Given the description of an element on the screen output the (x, y) to click on. 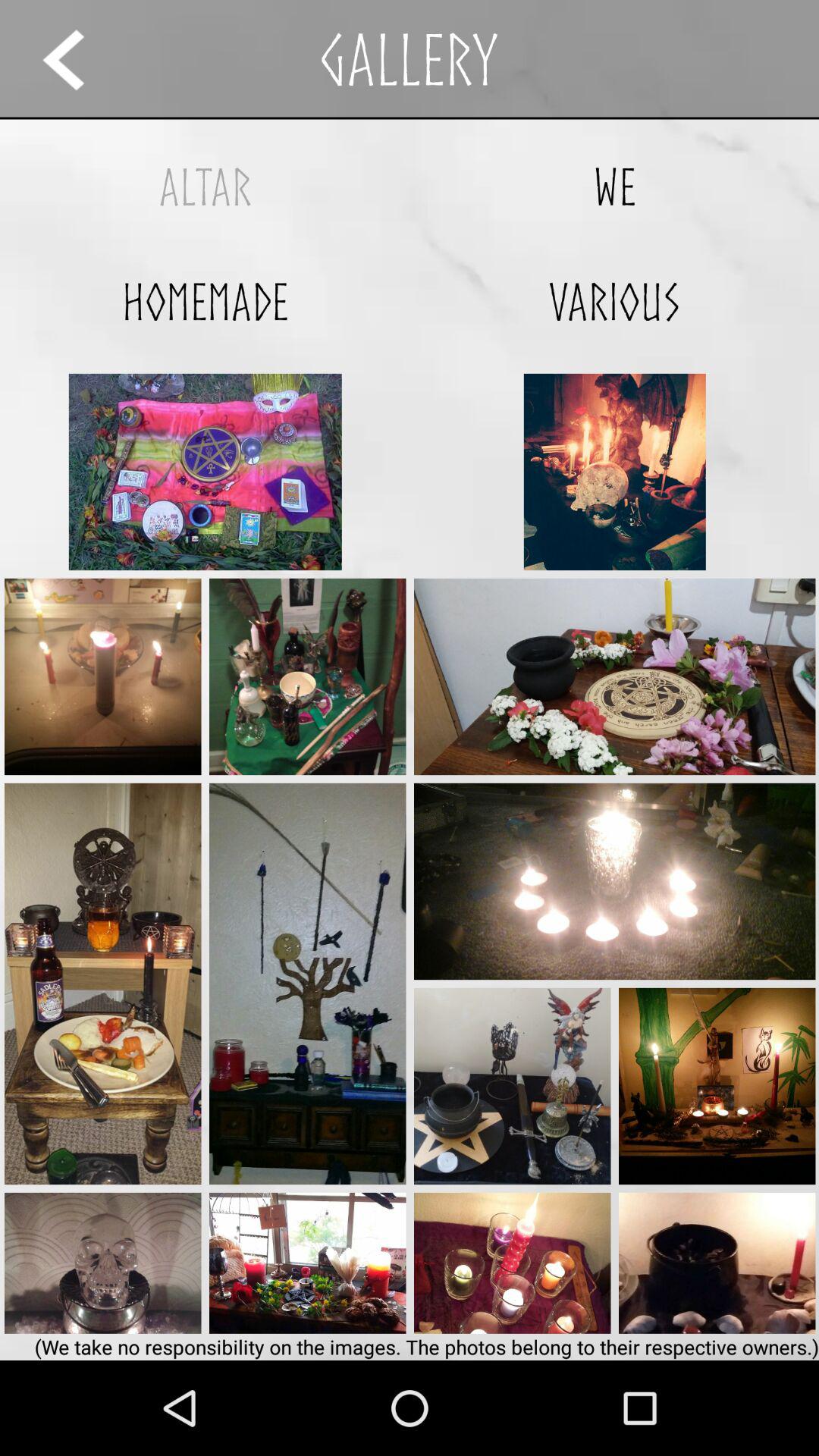
select the icon above the altar (77, 59)
